Given the description of an element on the screen output the (x, y) to click on. 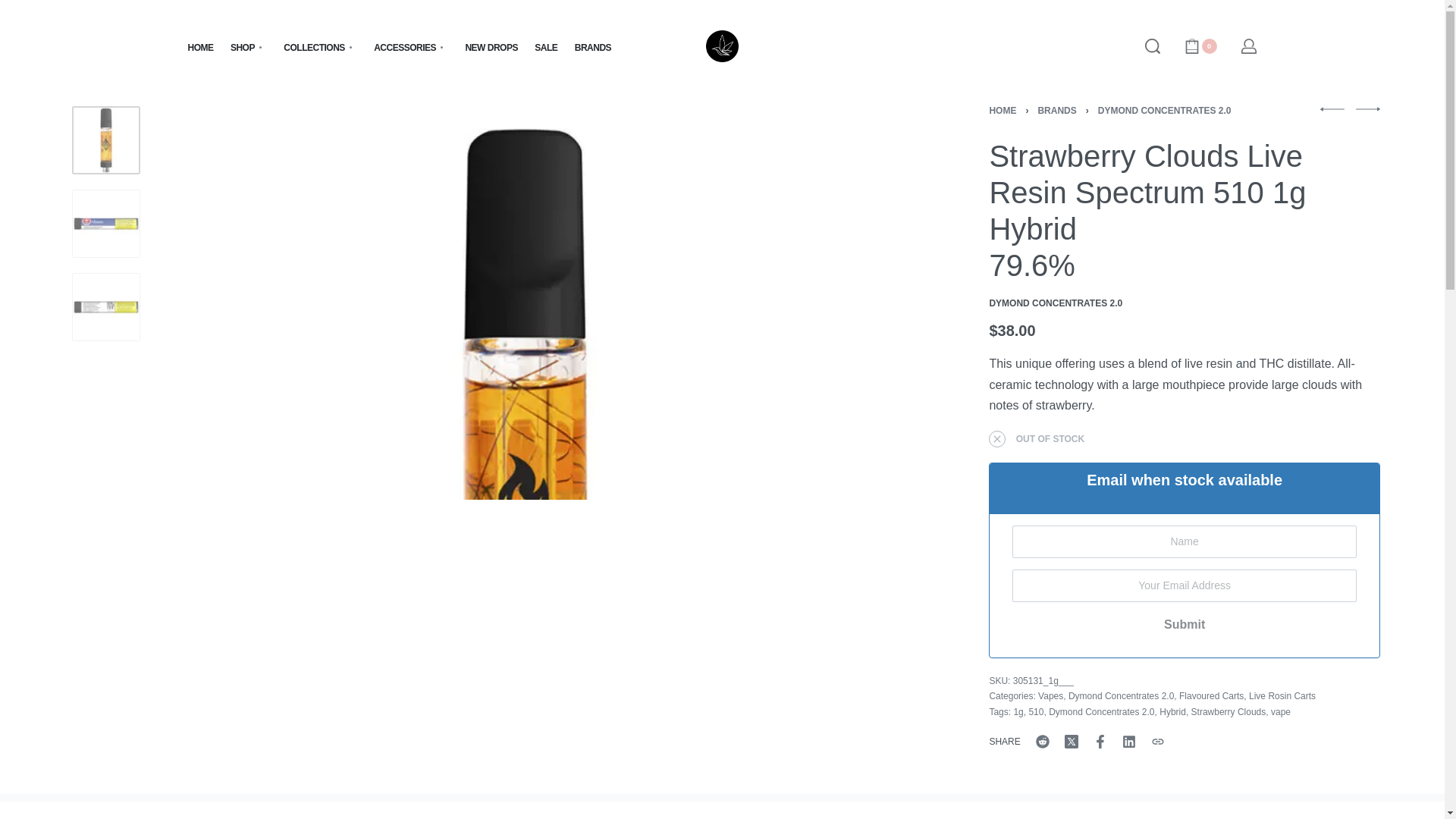
Submit (1183, 624)
HOME (200, 47)
SHOP (248, 47)
